Given the description of an element on the screen output the (x, y) to click on. 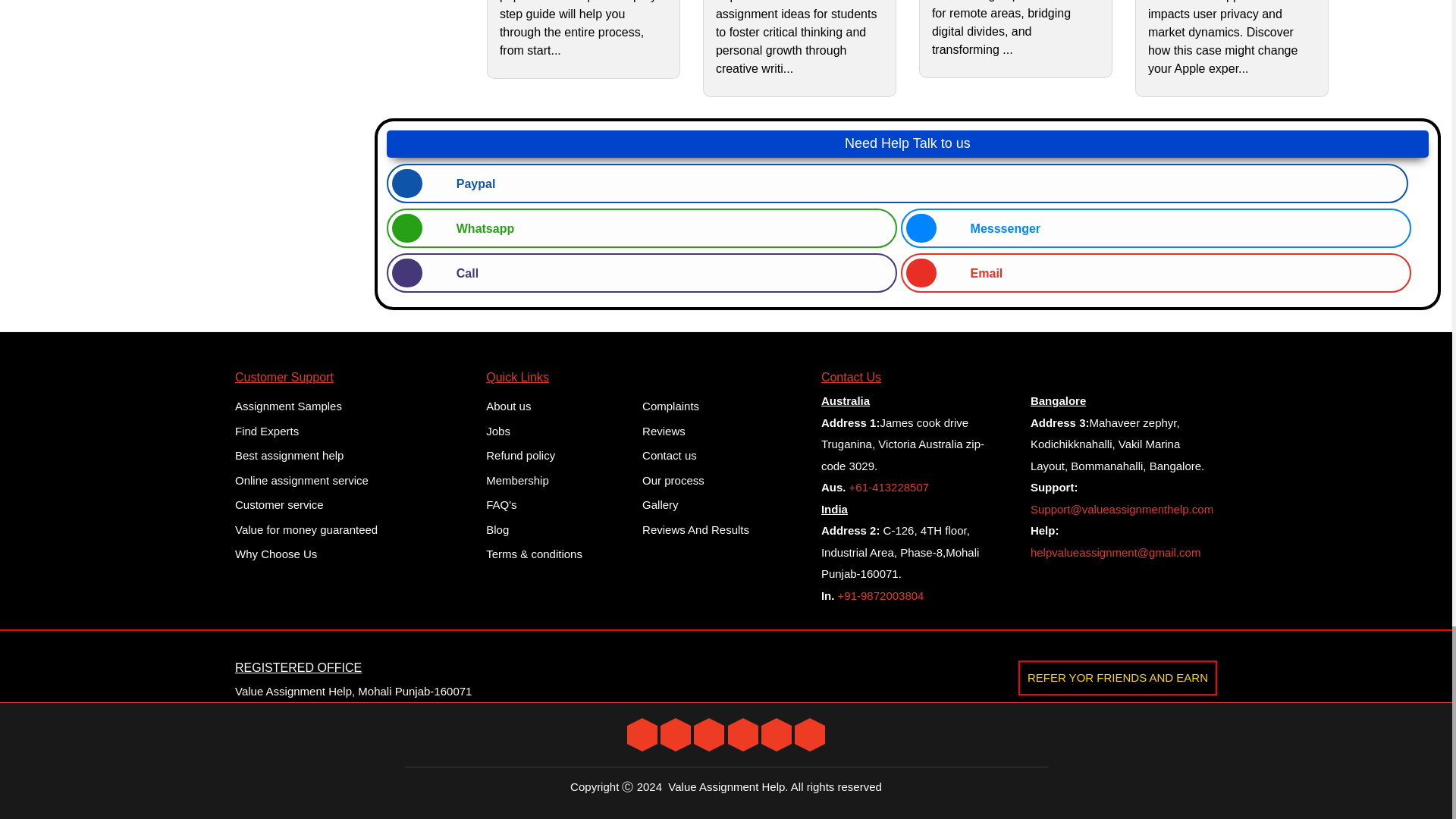
Skype (809, 733)
Twitter (642, 733)
Pinterest (776, 733)
Instagram (743, 733)
Facebook (675, 733)
linkedin (708, 733)
